Given the description of an element on the screen output the (x, y) to click on. 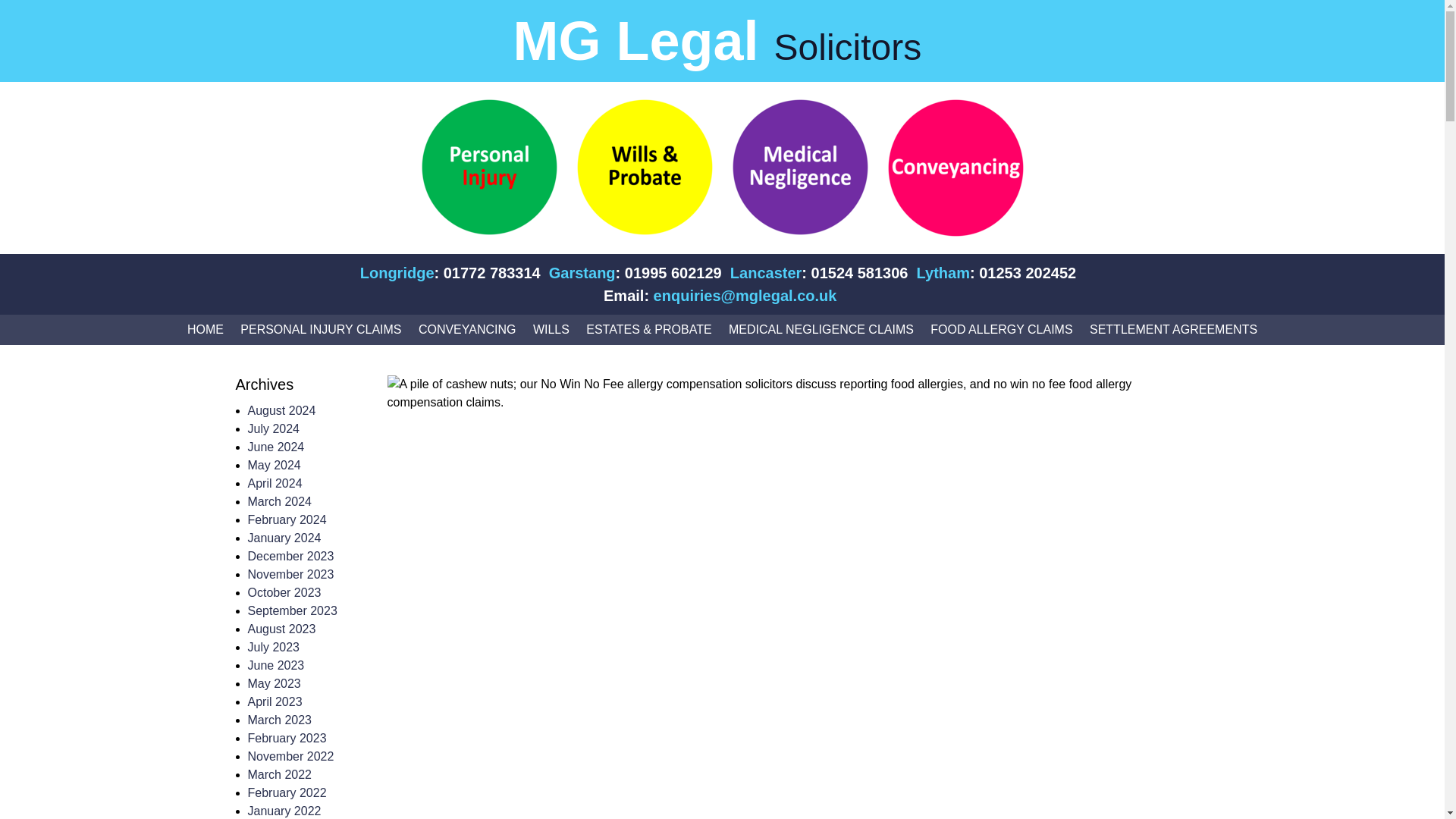
PERSONAL INJURY CLAIMS (320, 329)
Lancaster (766, 273)
Garstang (581, 273)
Longridge (396, 273)
CONVEYANCING (467, 329)
Lytham (943, 273)
HOME (205, 329)
WILLS (551, 329)
